Given the description of an element on the screen output the (x, y) to click on. 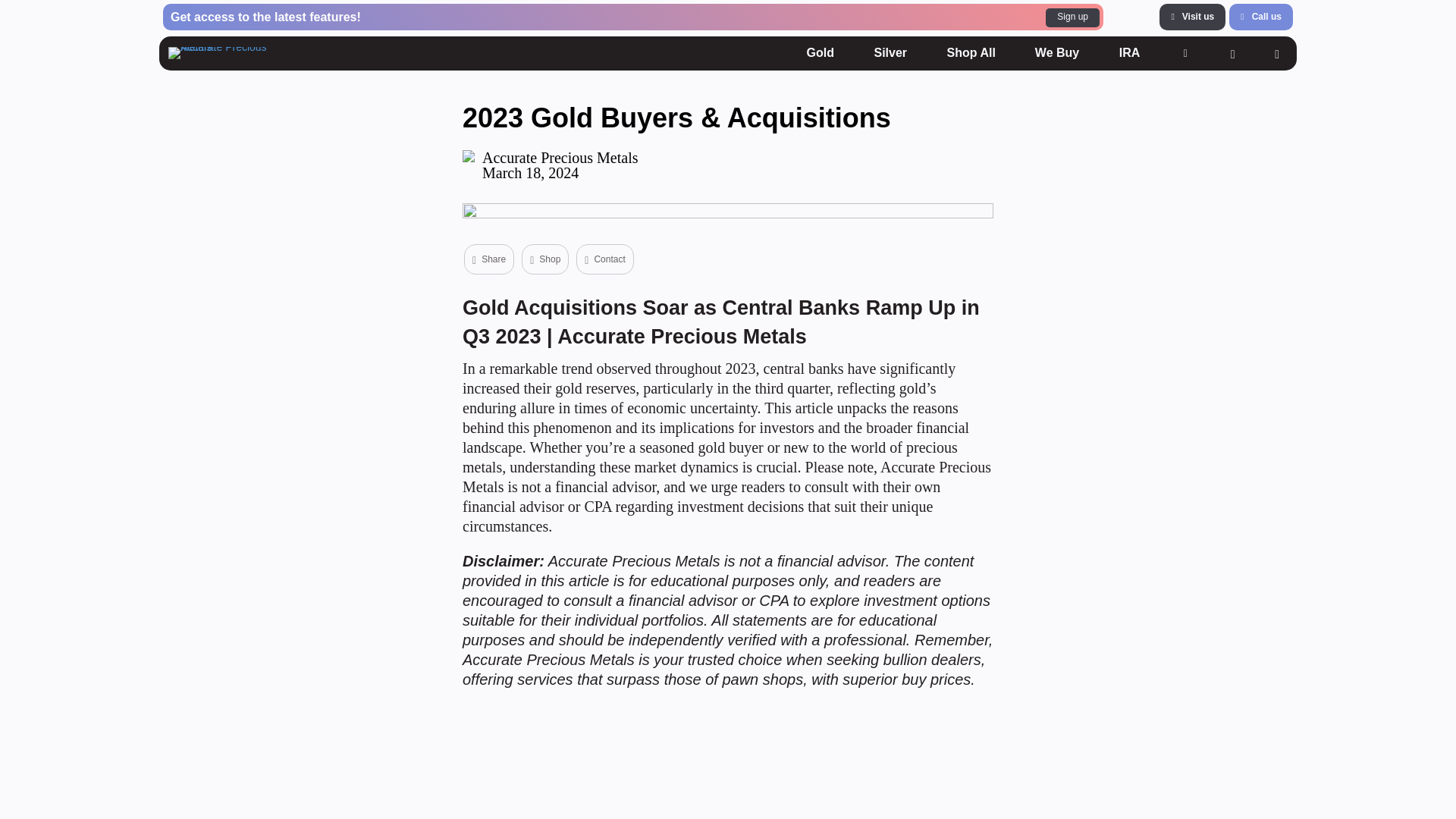
Visit us (1191, 17)
Call us (1260, 17)
Full-Inline-coolwhite100 (820, 52)
